Given the description of an element on the screen output the (x, y) to click on. 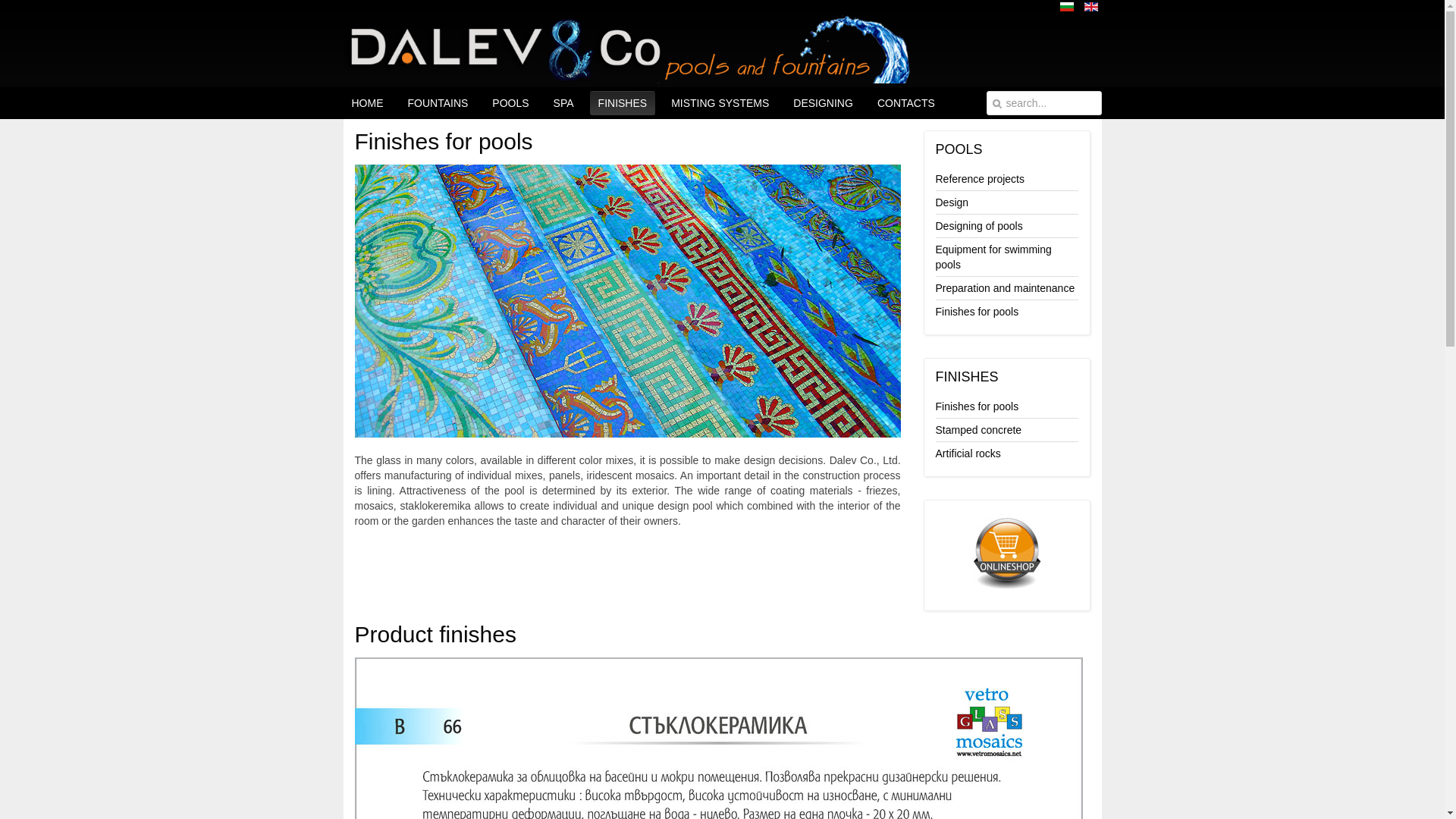
FOUNTAINS (437, 102)
Reference projects (1007, 178)
MISTING SYSTEMS (719, 102)
Reset (5, 3)
Equipment for swimming pools (1007, 257)
POOLS (510, 102)
Designing of pools (1007, 225)
DESIGNING (822, 102)
Preparation and maintenance (1007, 287)
CONTACTS (906, 102)
FINISHES (622, 102)
HOME (366, 102)
SPA (563, 102)
Design (1007, 201)
Finishes for pools (1007, 311)
